Given the description of an element on the screen output the (x, y) to click on. 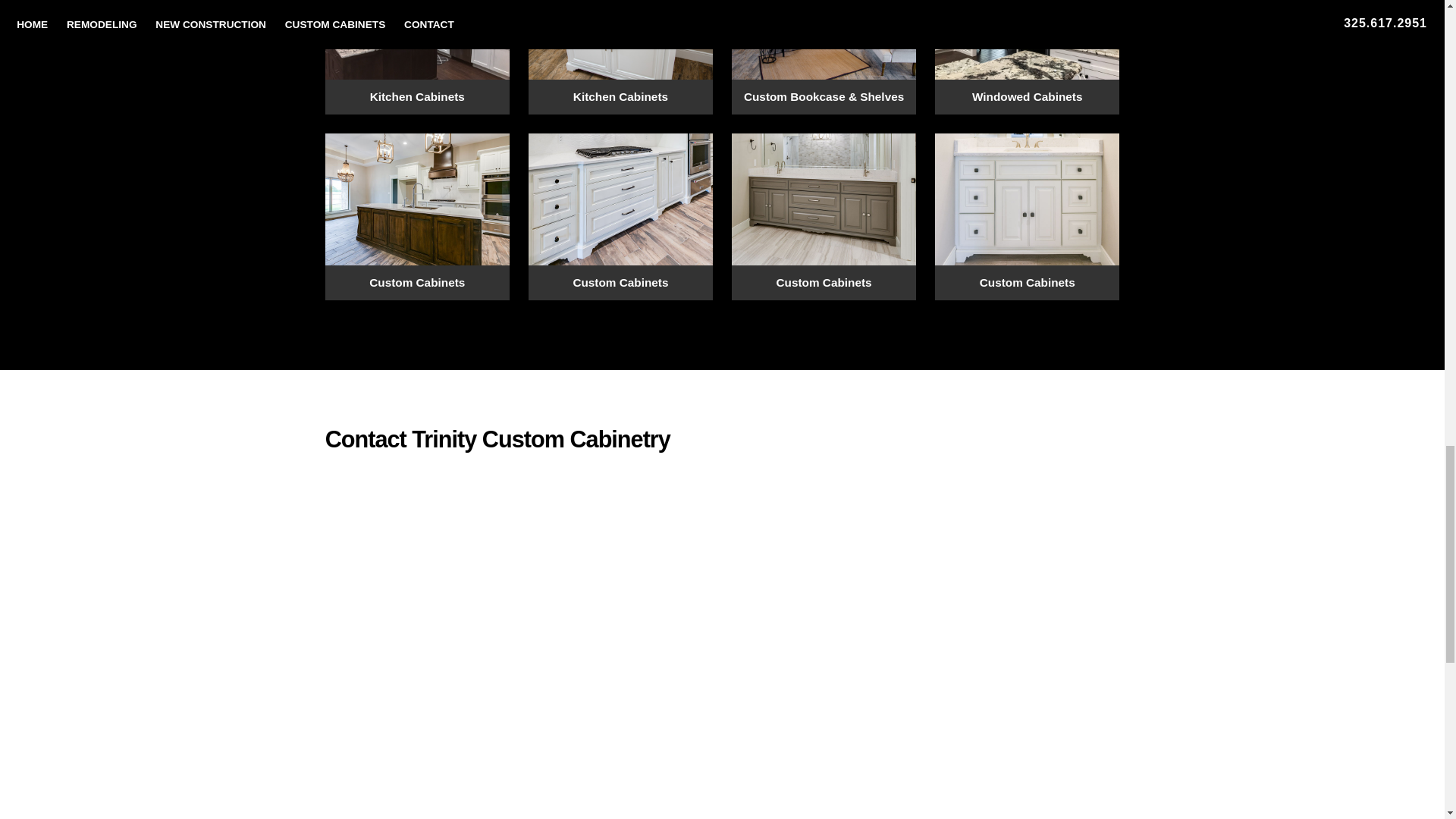
Custom Cabinets (416, 216)
Kitchen Cabinets (416, 56)
Custom Cabinets (620, 216)
Kitchen Cabinets (620, 56)
Custom Cabinets (823, 216)
Windowed Cabinets (1026, 56)
Custom Cabinets (1026, 216)
